Given the description of an element on the screen output the (x, y) to click on. 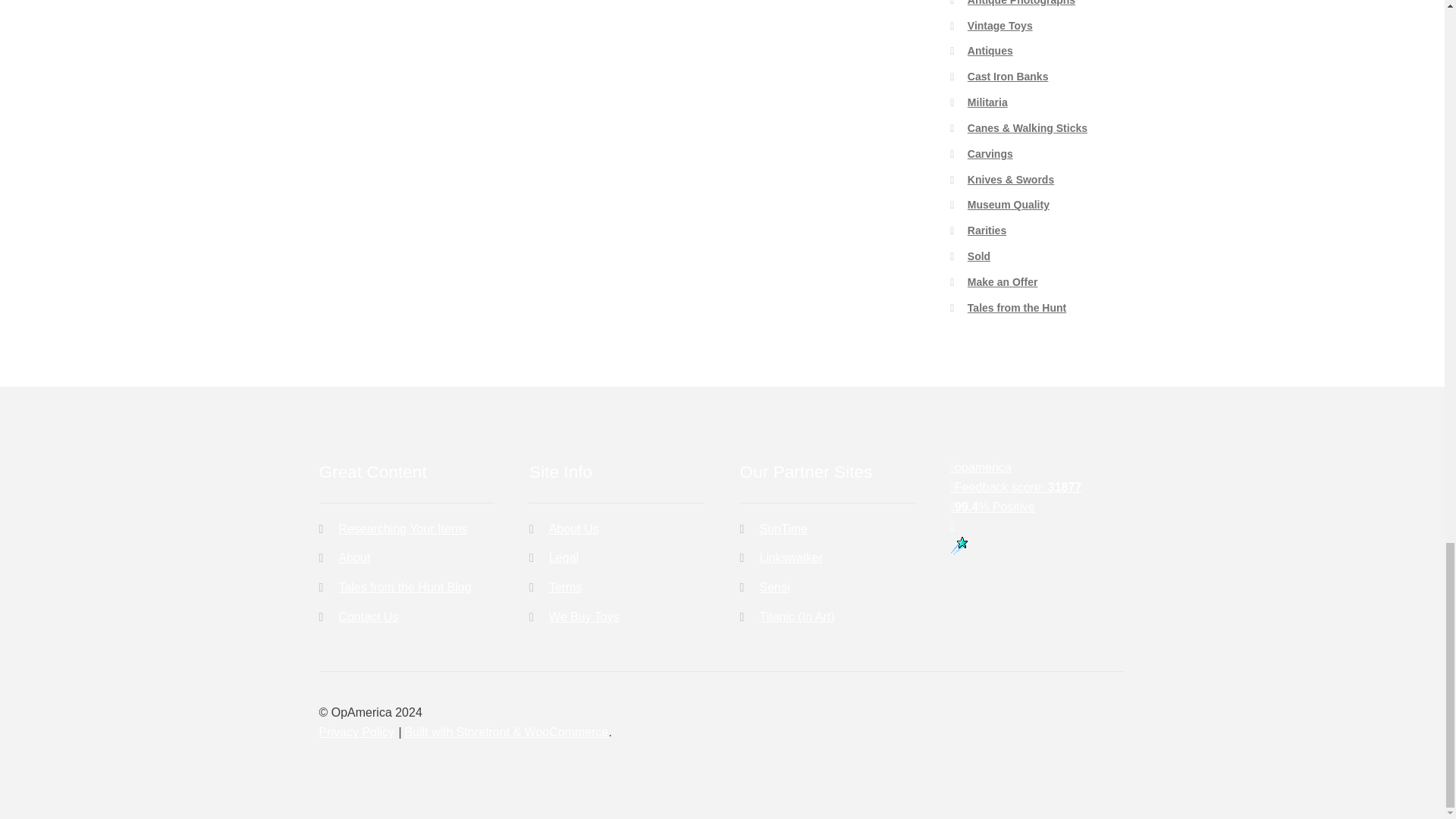
WooCommerce - The Best eCommerce Platform for WordPress (506, 731)
